Given the description of an element on the screen output the (x, y) to click on. 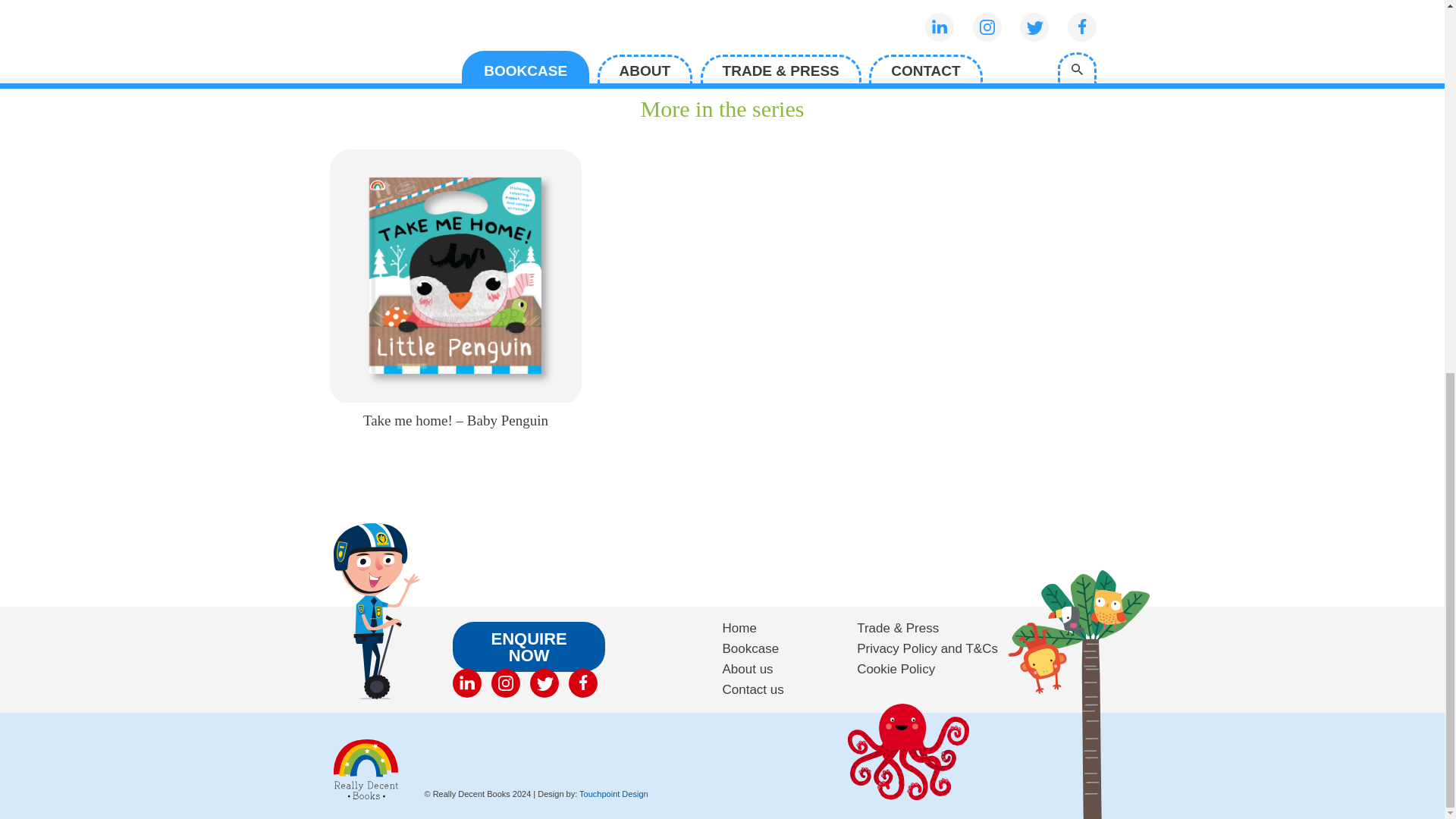
ENQUIRE NOW (528, 646)
Cookie Policy (895, 668)
Touchpoint Design (613, 793)
Home (738, 627)
Bookcase (750, 648)
Contact us (752, 689)
About us (747, 668)
